Given the description of an element on the screen output the (x, y) to click on. 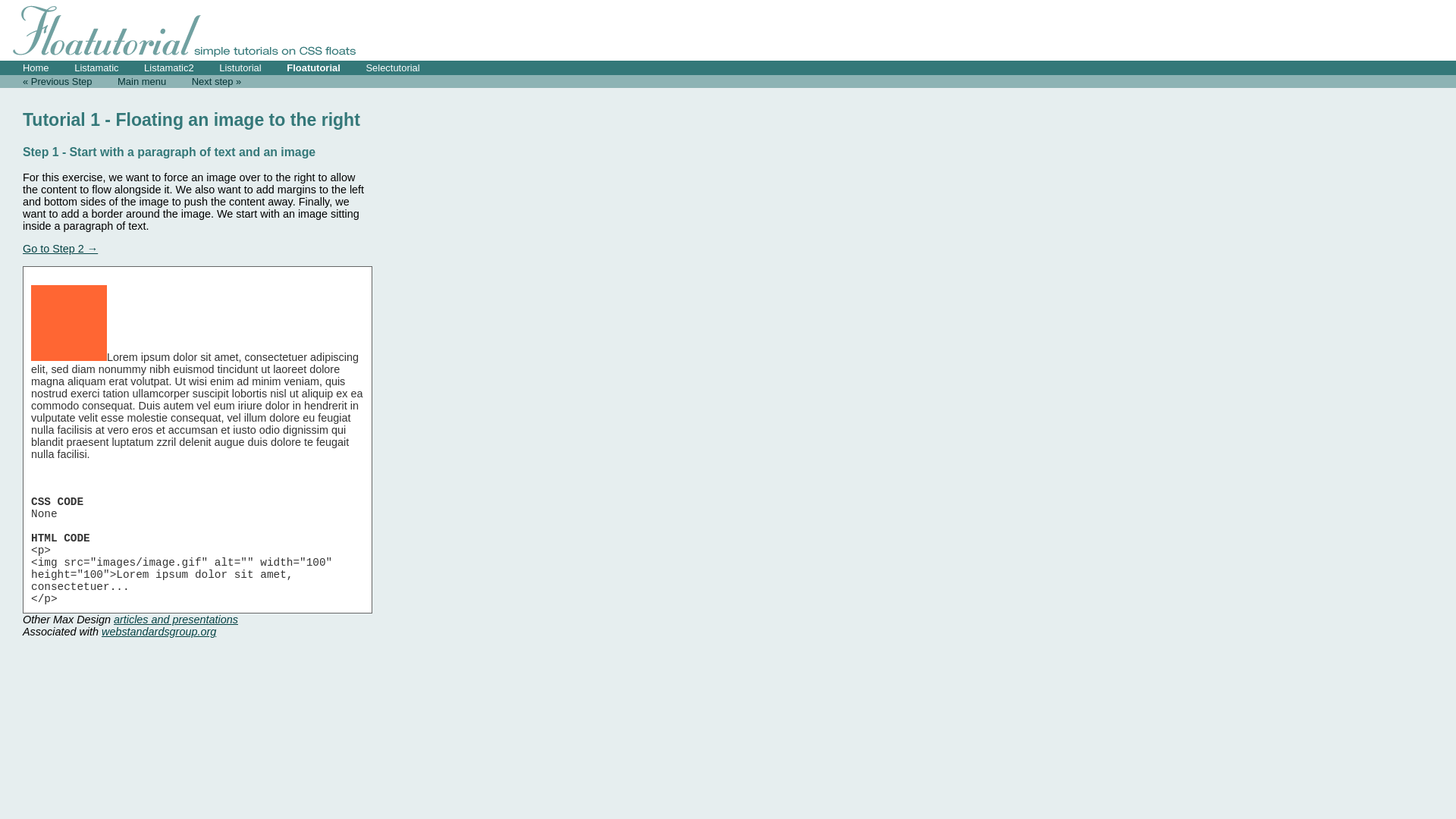
webstandardsgroup.org Element type: text (158, 631)
Listamatic Element type: text (96, 67)
Selectutorial Element type: text (392, 67)
Main menu Element type: text (141, 81)
Listamatic2 Element type: text (169, 67)
Floatutorial Element type: text (313, 67)
Listutorial Element type: text (239, 67)
Home Element type: text (35, 67)
articles and presentations Element type: text (175, 619)
